Given the description of an element on the screen output the (x, y) to click on. 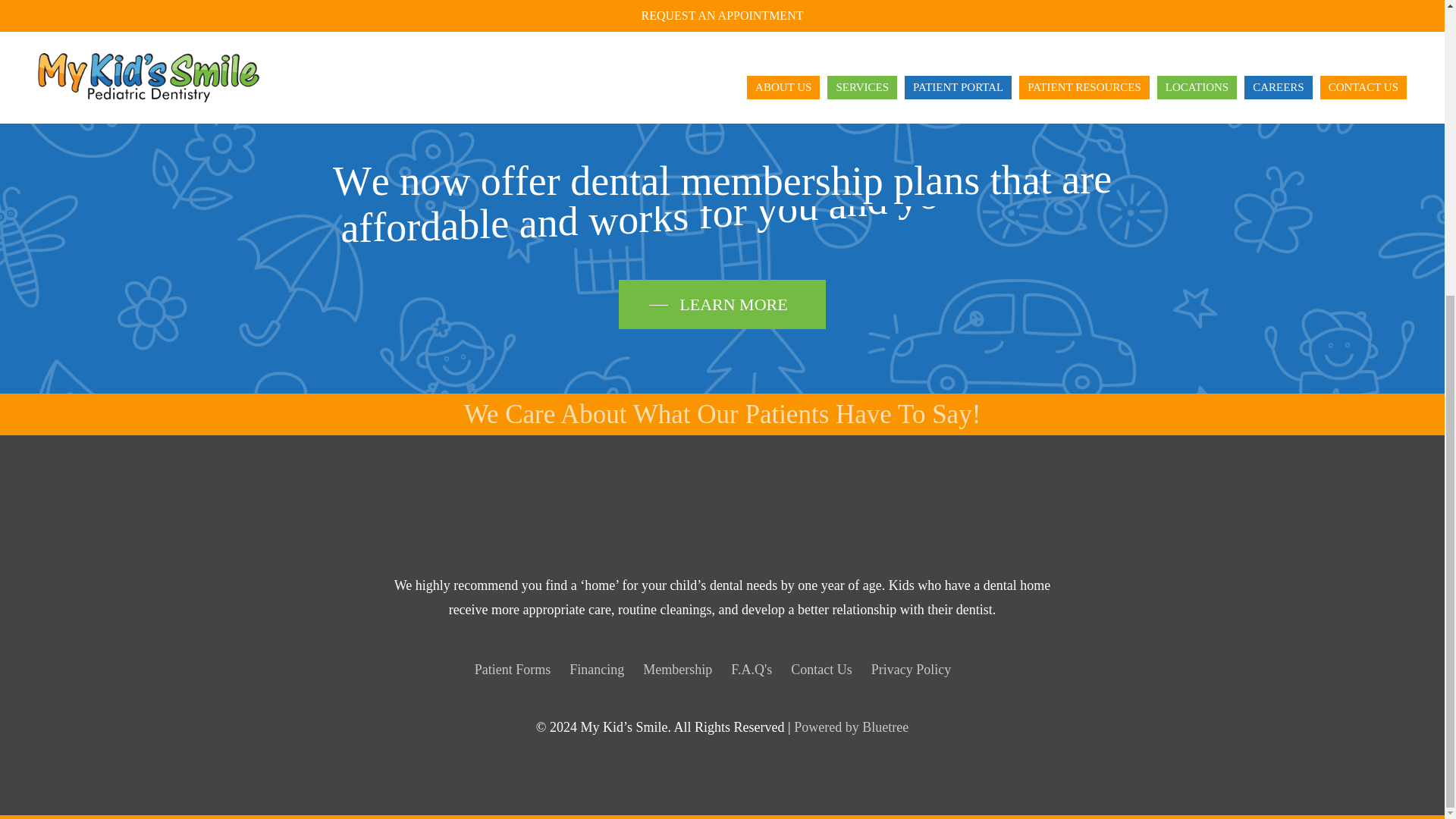
Patient Forms (512, 669)
We Care About What Our Patients Have To Say! (722, 414)
LEARN MORE (721, 304)
